Given the description of an element on the screen output the (x, y) to click on. 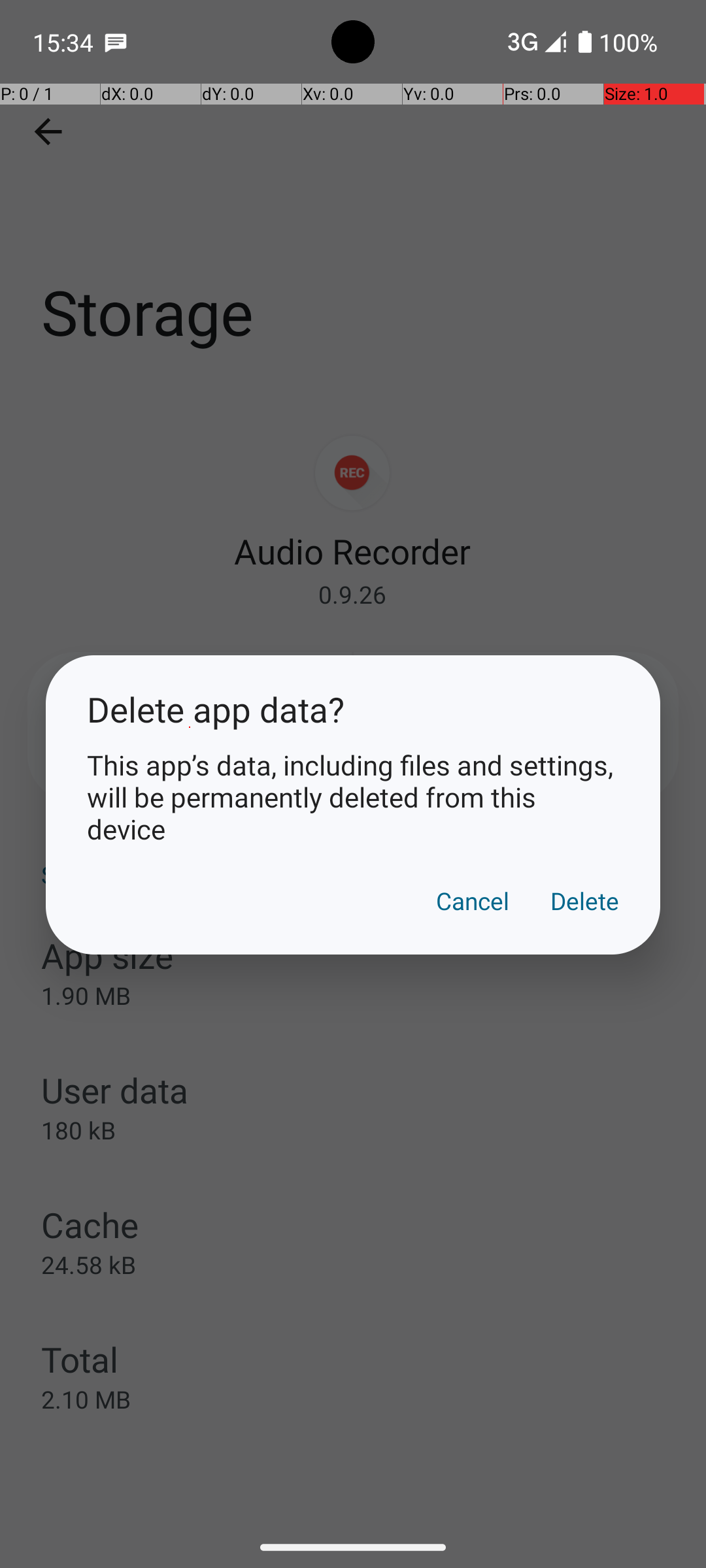
Delete app data? Element type: android.widget.TextView (352, 709)
This app’s data, including files and settings, will be permanently deleted from this device Element type: android.widget.TextView (352, 796)
